Given the description of an element on the screen output the (x, y) to click on. 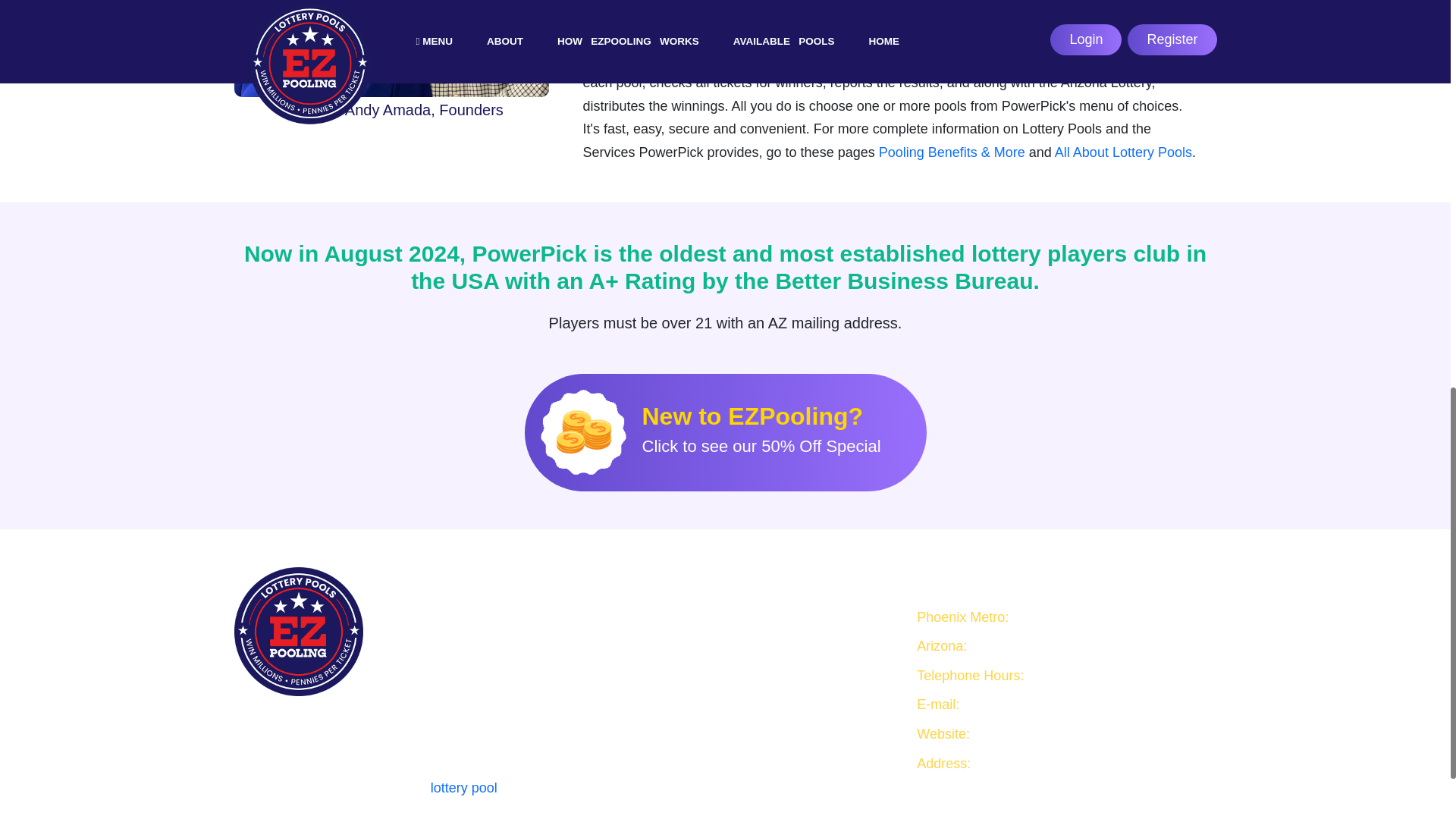
lottery pool (194, 761)
All About Lottery Pools (1123, 151)
602-995-9200 (1238, 641)
800-274-7529 (1199, 661)
About Us (718, 799)
www.ezpooling.com (1190, 723)
